Given the description of an element on the screen output the (x, y) to click on. 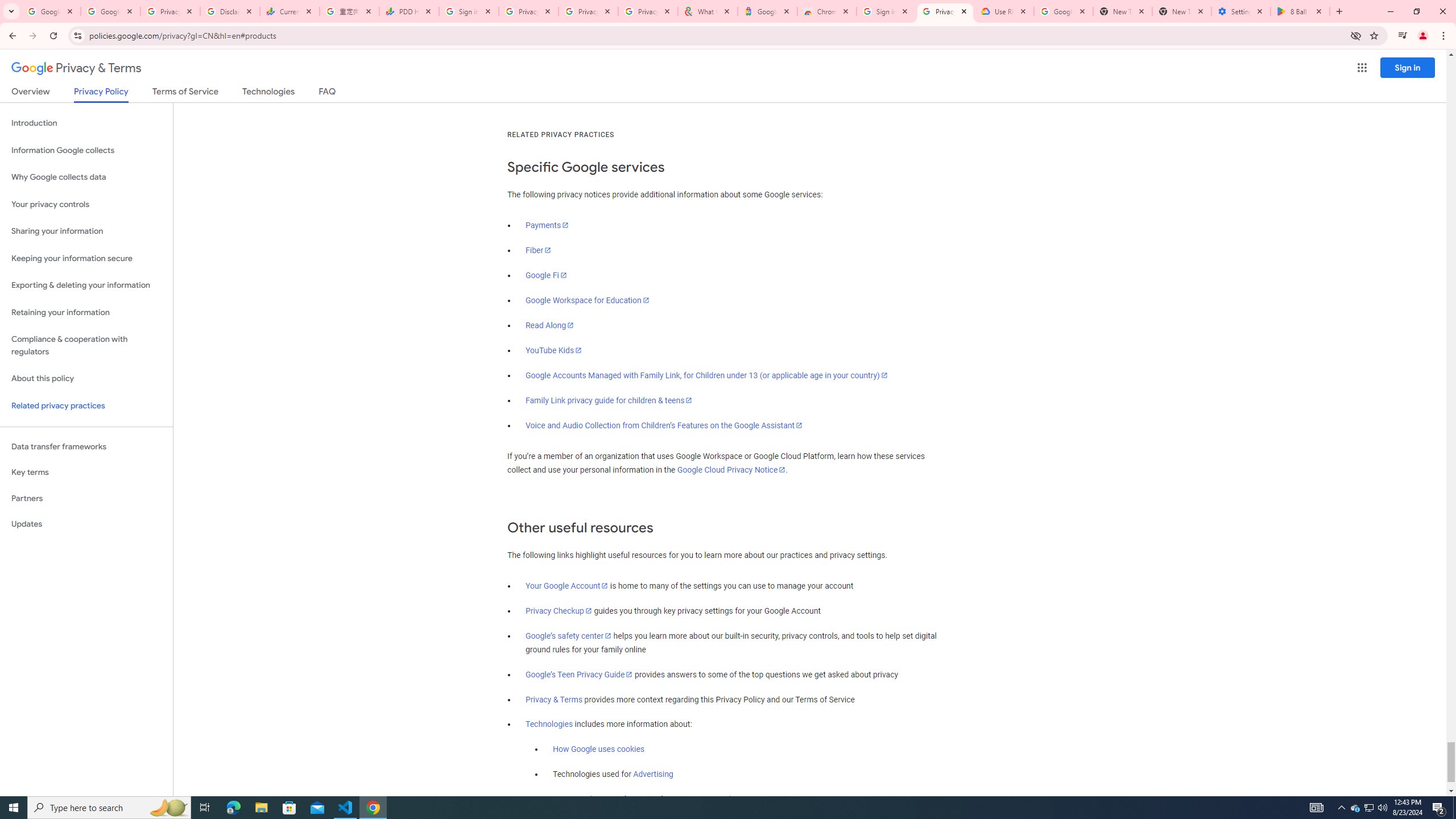
Compliance & cooperation with regulators (86, 345)
Why Google collects data (86, 176)
Family Link privacy guide for children & teens (609, 400)
Google Fi (545, 275)
Sharing your information (86, 230)
Your privacy controls (86, 204)
New Tab (1182, 11)
